Given the description of an element on the screen output the (x, y) to click on. 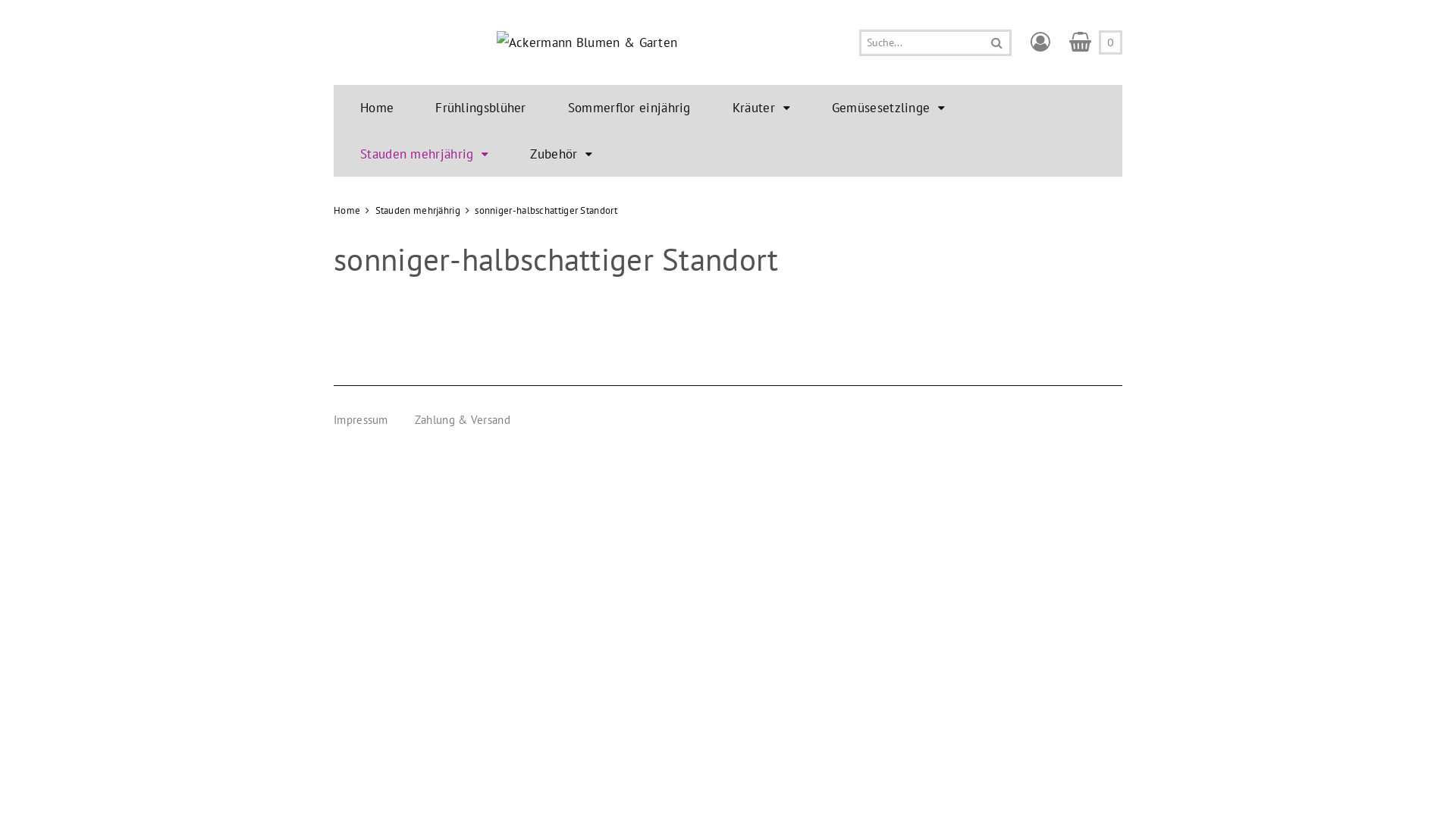
Home Element type: text (376, 107)
Home Element type: text (346, 209)
Ackermann Blumen & Garten Element type: hover (586, 42)
Zahlung & Versand Element type: text (462, 419)
Impressum Element type: text (360, 419)
Warenkorb anzeigen. Sie haben 0 Artikel im Warenkorb.
0 Element type: text (1095, 42)
sonniger-halbschattiger Standort Element type: text (545, 209)
Suche Element type: text (996, 42)
